Given the description of an element on the screen output the (x, y) to click on. 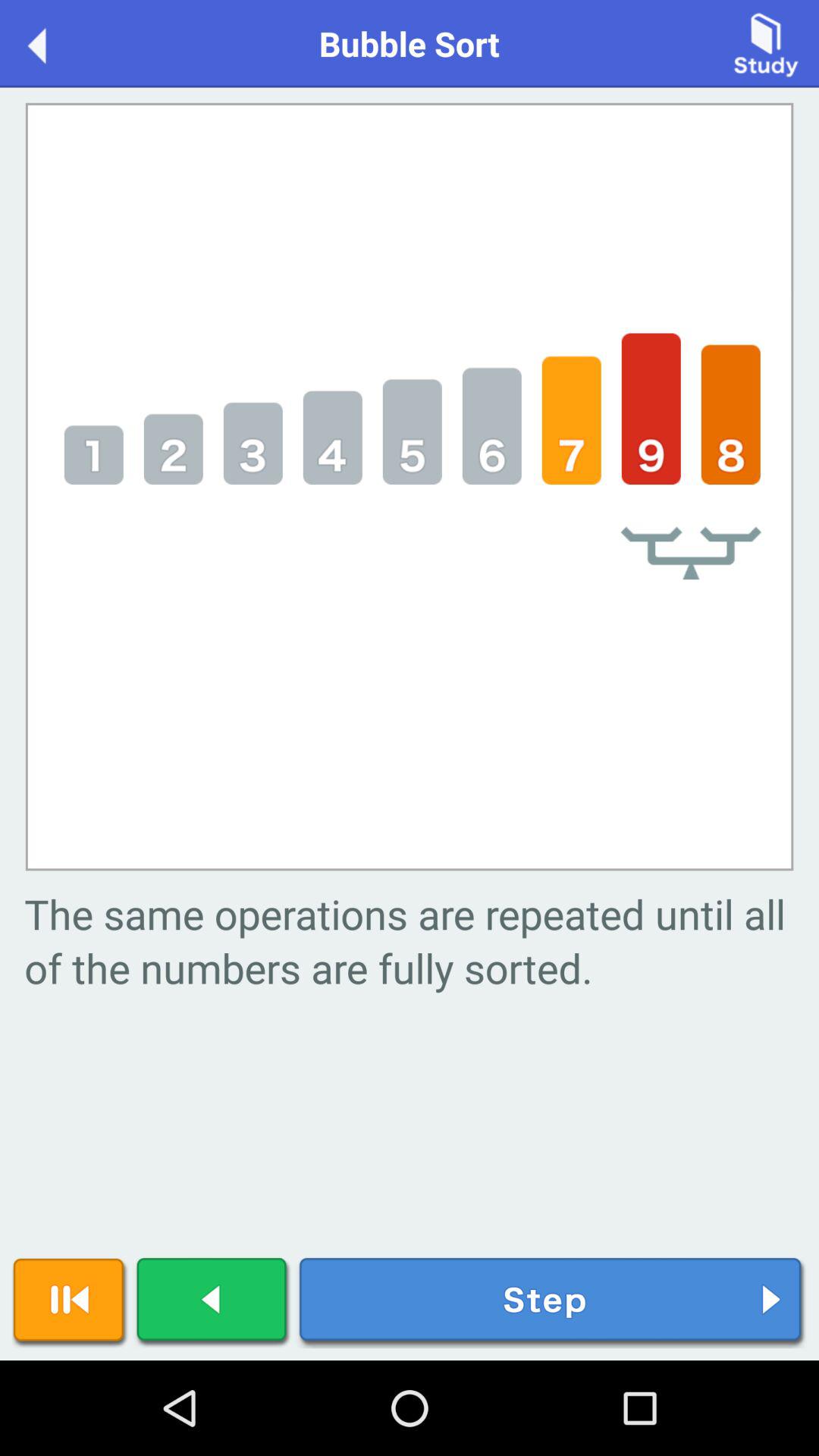
pause operation (70, 1303)
